Given the description of an element on the screen output the (x, y) to click on. 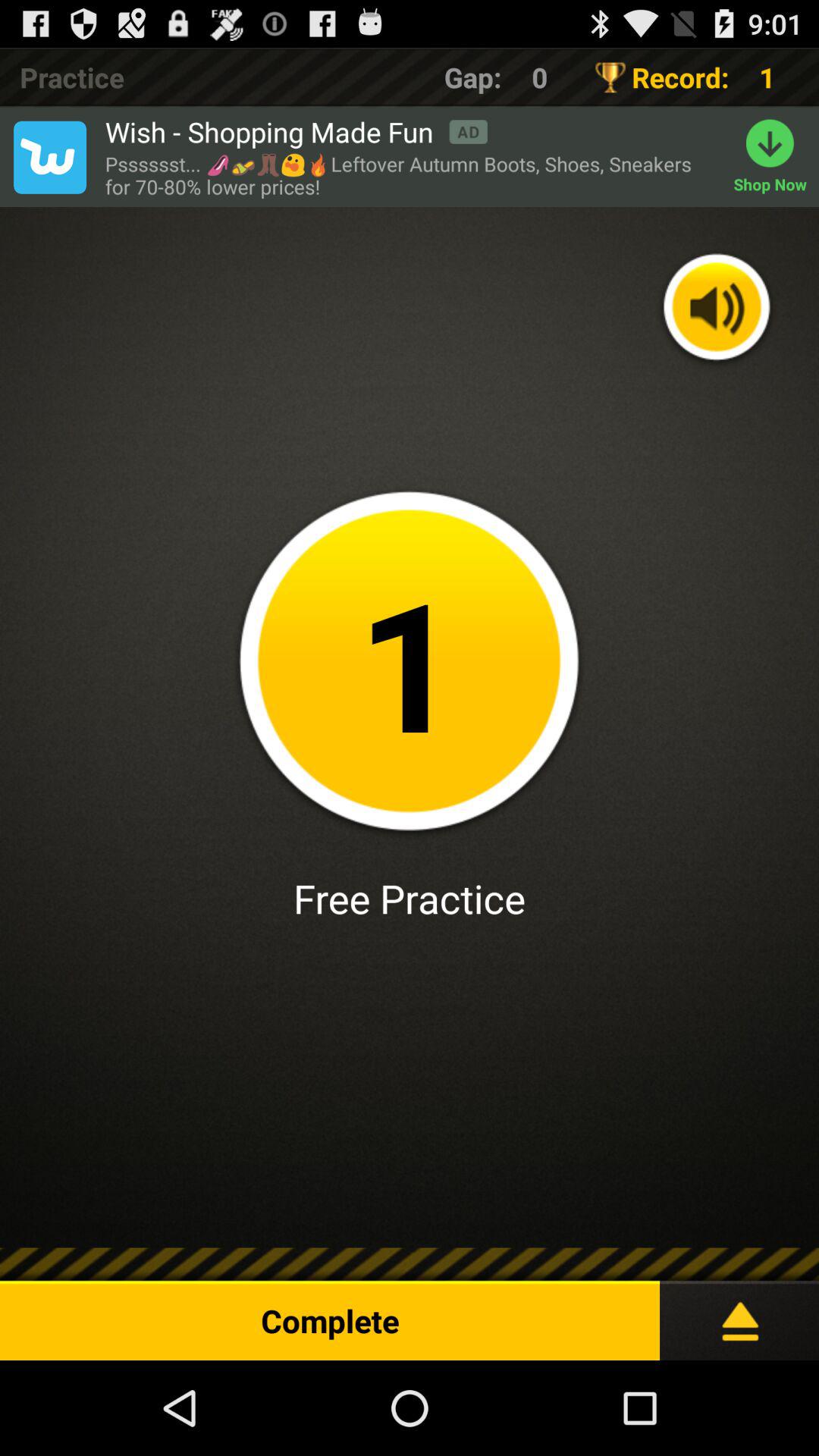
toggle sound (716, 308)
